Given the description of an element on the screen output the (x, y) to click on. 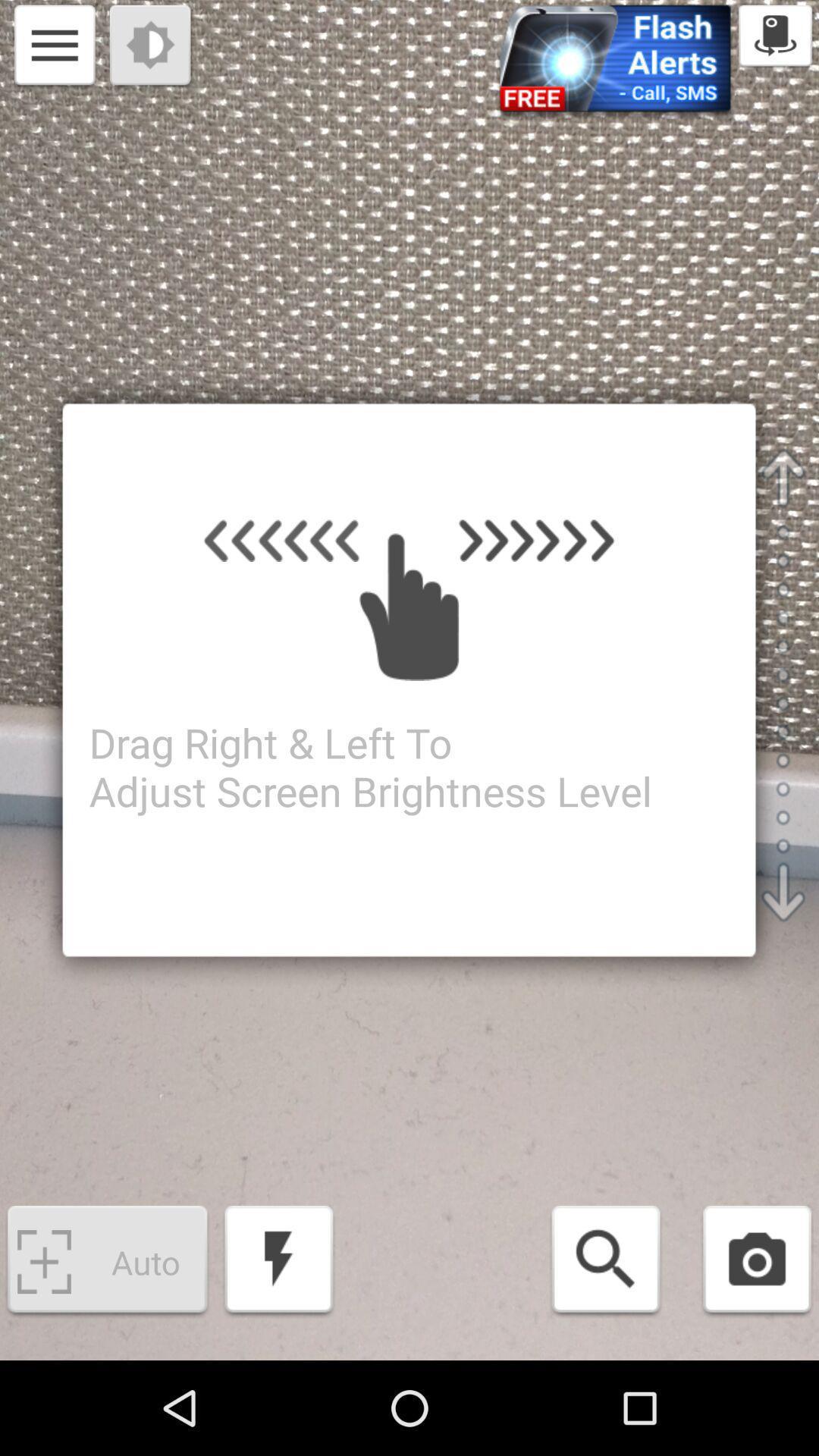
brightness view (151, 47)
